Given the description of an element on the screen output the (x, y) to click on. 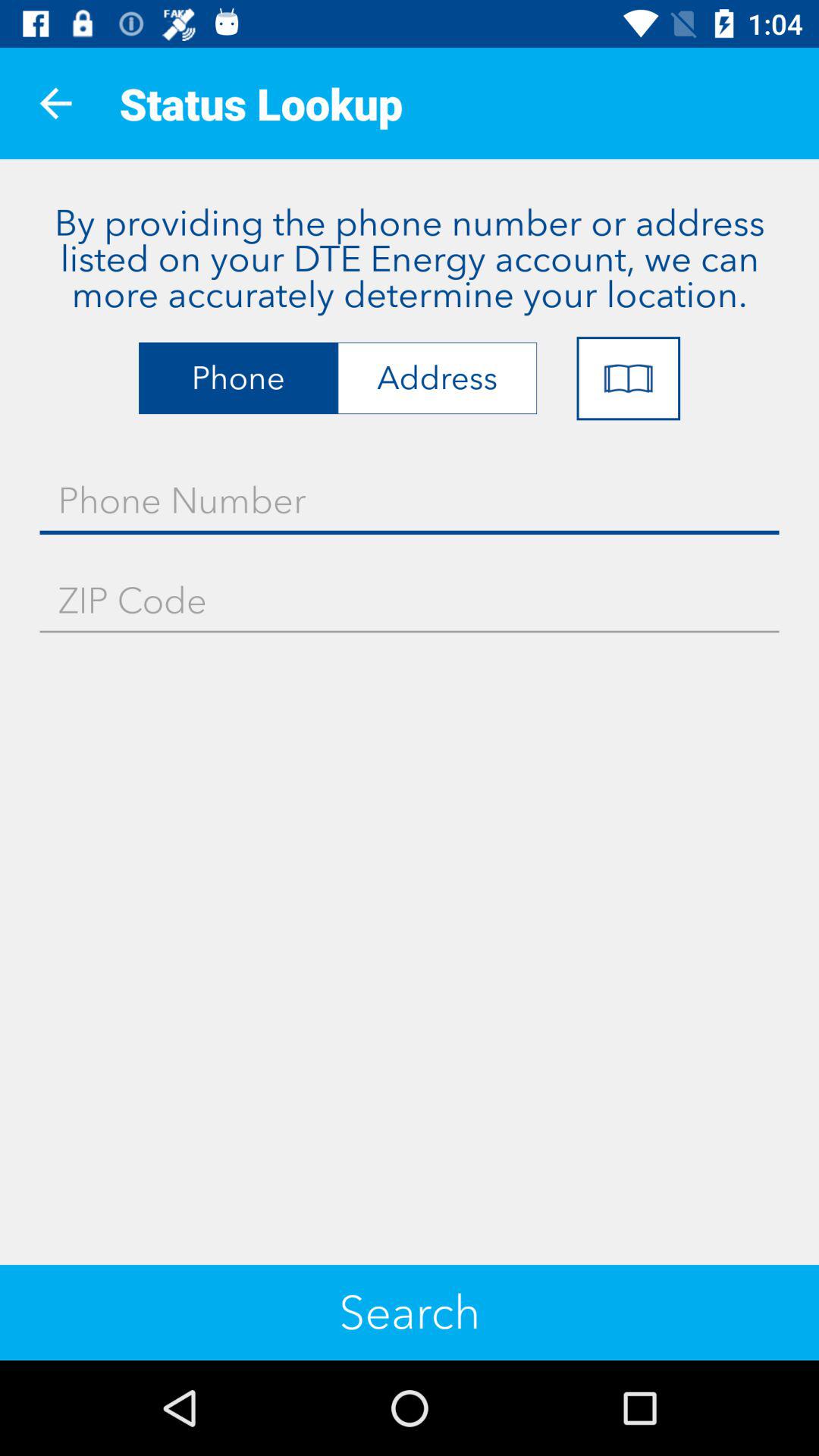
scroll until search item (409, 1312)
